Given the description of an element on the screen output the (x, y) to click on. 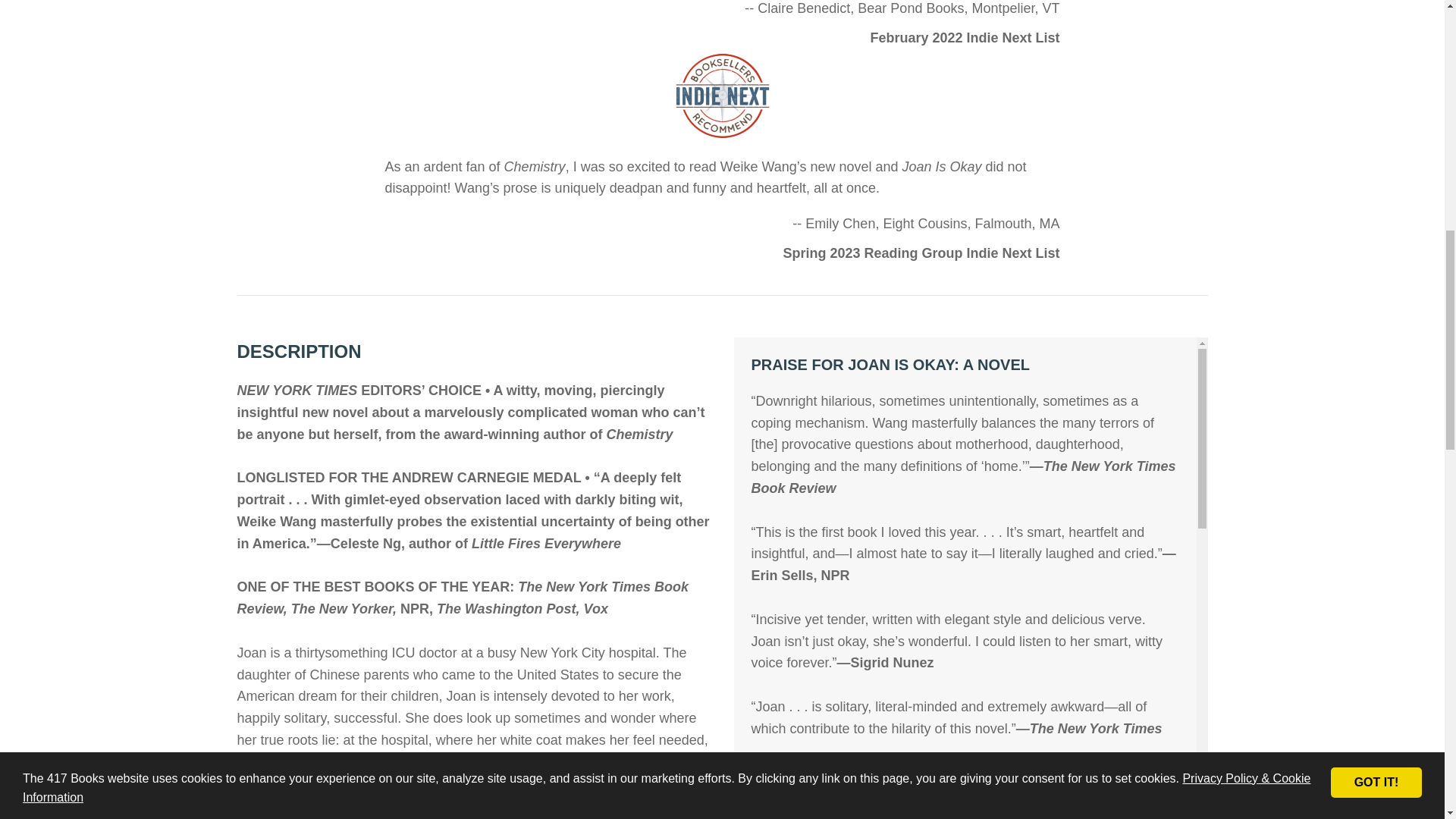
GOT IT! (1376, 37)
